Given the description of an element on the screen output the (x, y) to click on. 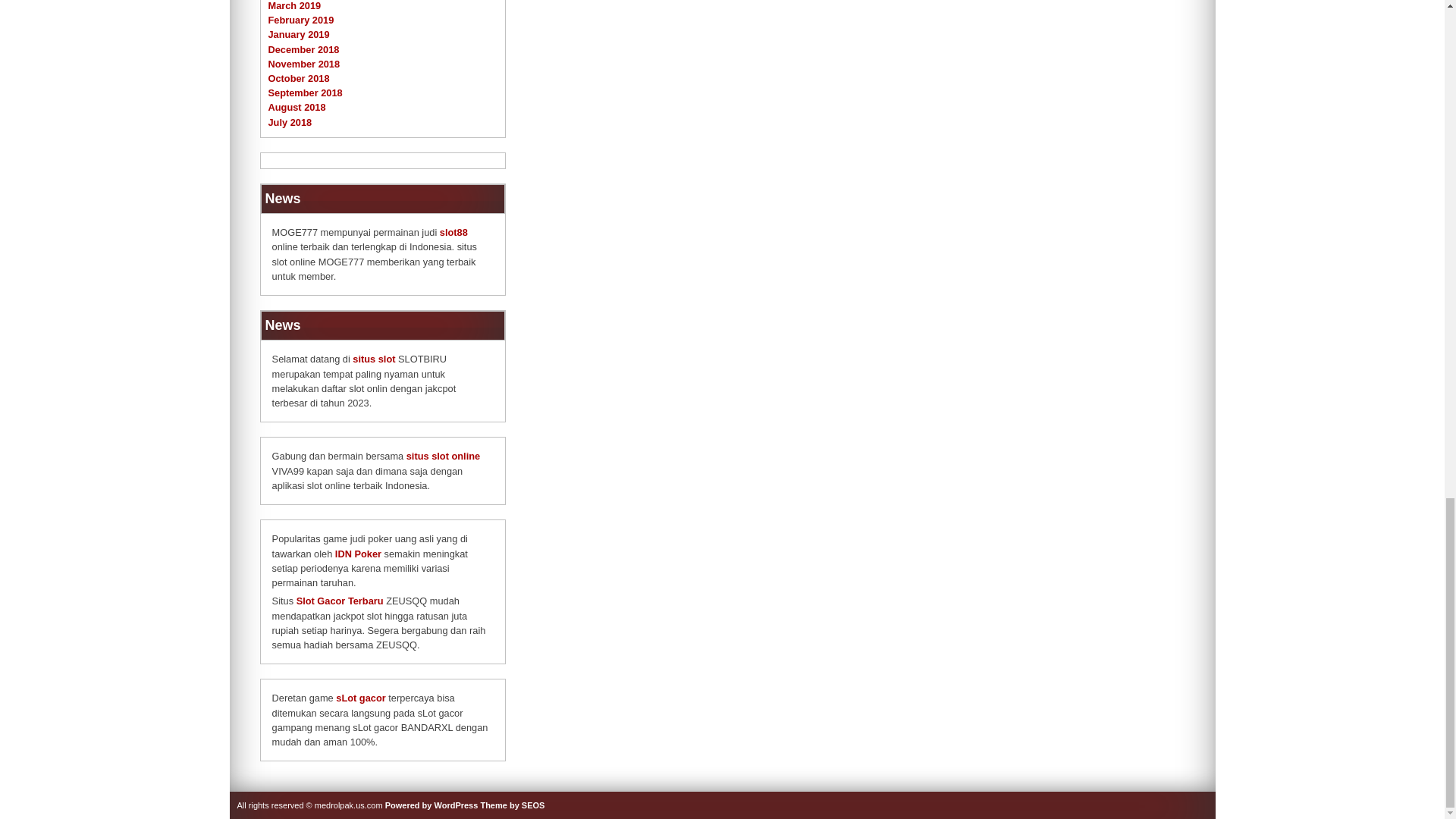
Seos free wordpress themes (512, 804)
